Given the description of an element on the screen output the (x, y) to click on. 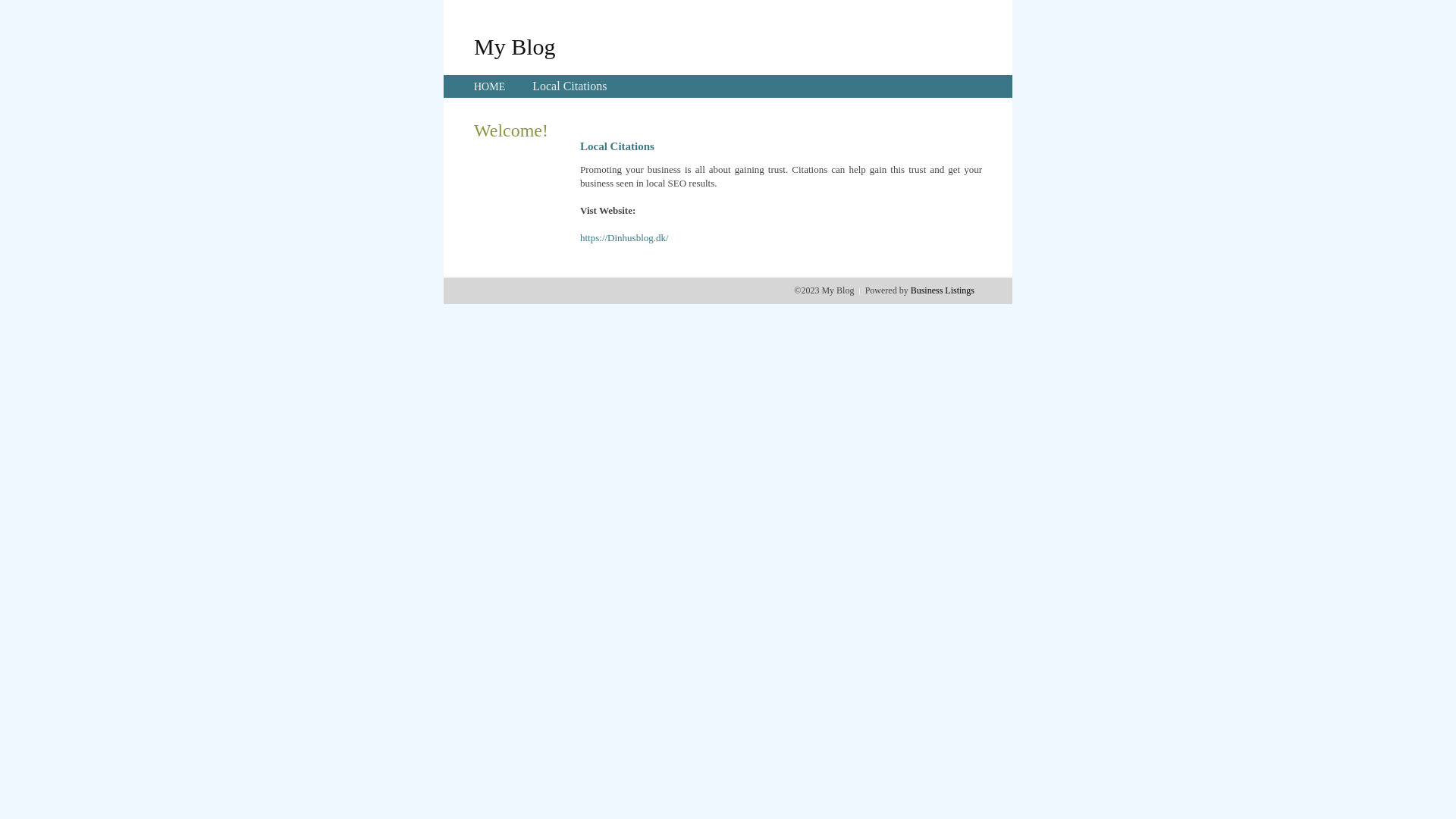
Business Listings Element type: text (942, 290)
https://Dinhusblog.dk/ Element type: text (624, 237)
My Blog Element type: text (514, 46)
Local Citations Element type: text (569, 85)
HOME Element type: text (489, 86)
